Given the description of an element on the screen output the (x, y) to click on. 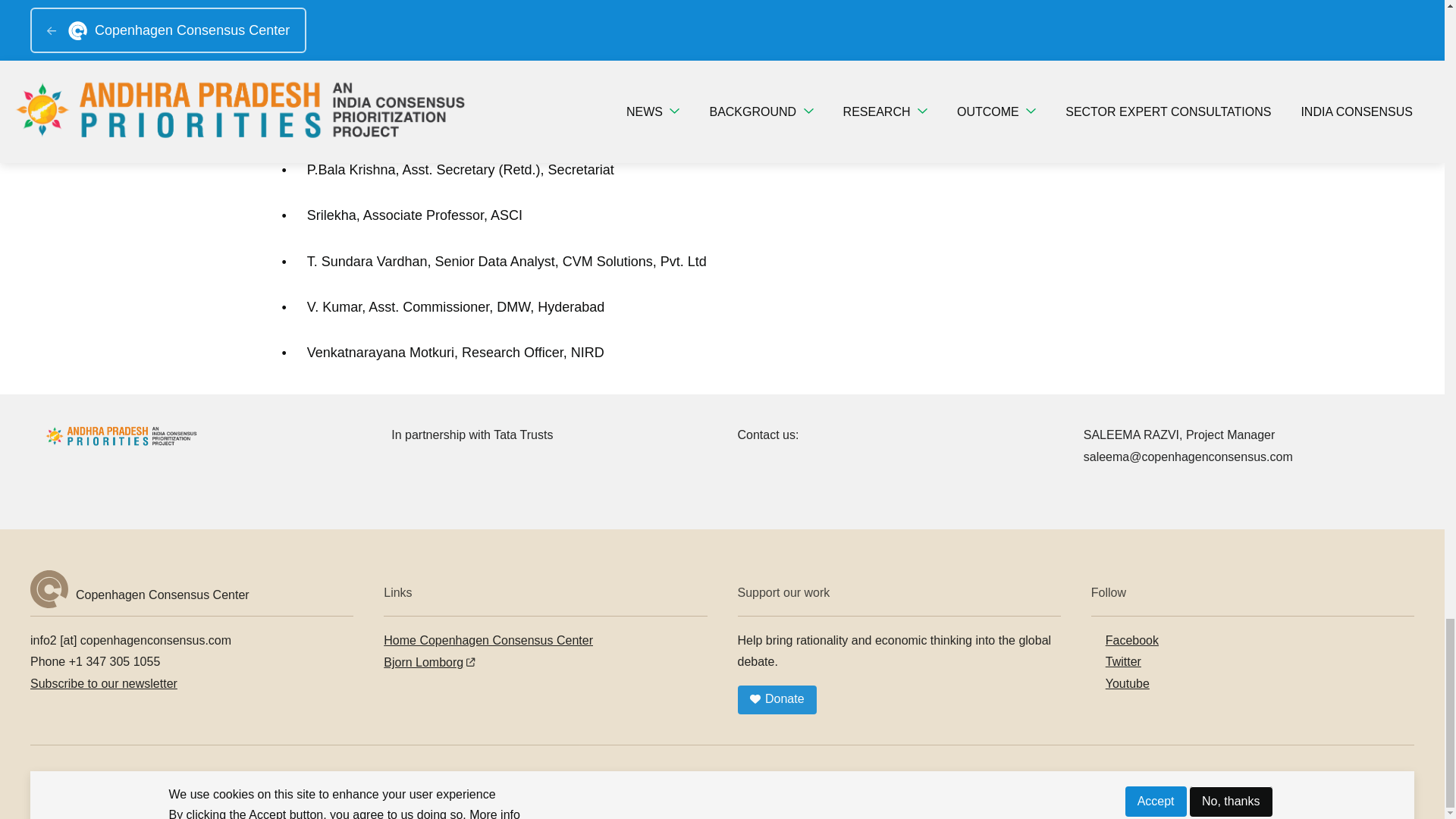
Bjorn Lomborg (430, 662)
Twitter (1115, 661)
Created by 040 (493, 777)
Home Copenhagen Consensus Center (488, 640)
Donate (775, 699)
Cookie Policy (406, 777)
Donate (775, 698)
Personal Data Protection (297, 777)
Facebook (1124, 640)
Subscribe to our newsletter (103, 683)
Youtube (1120, 683)
